Given the description of an element on the screen output the (x, y) to click on. 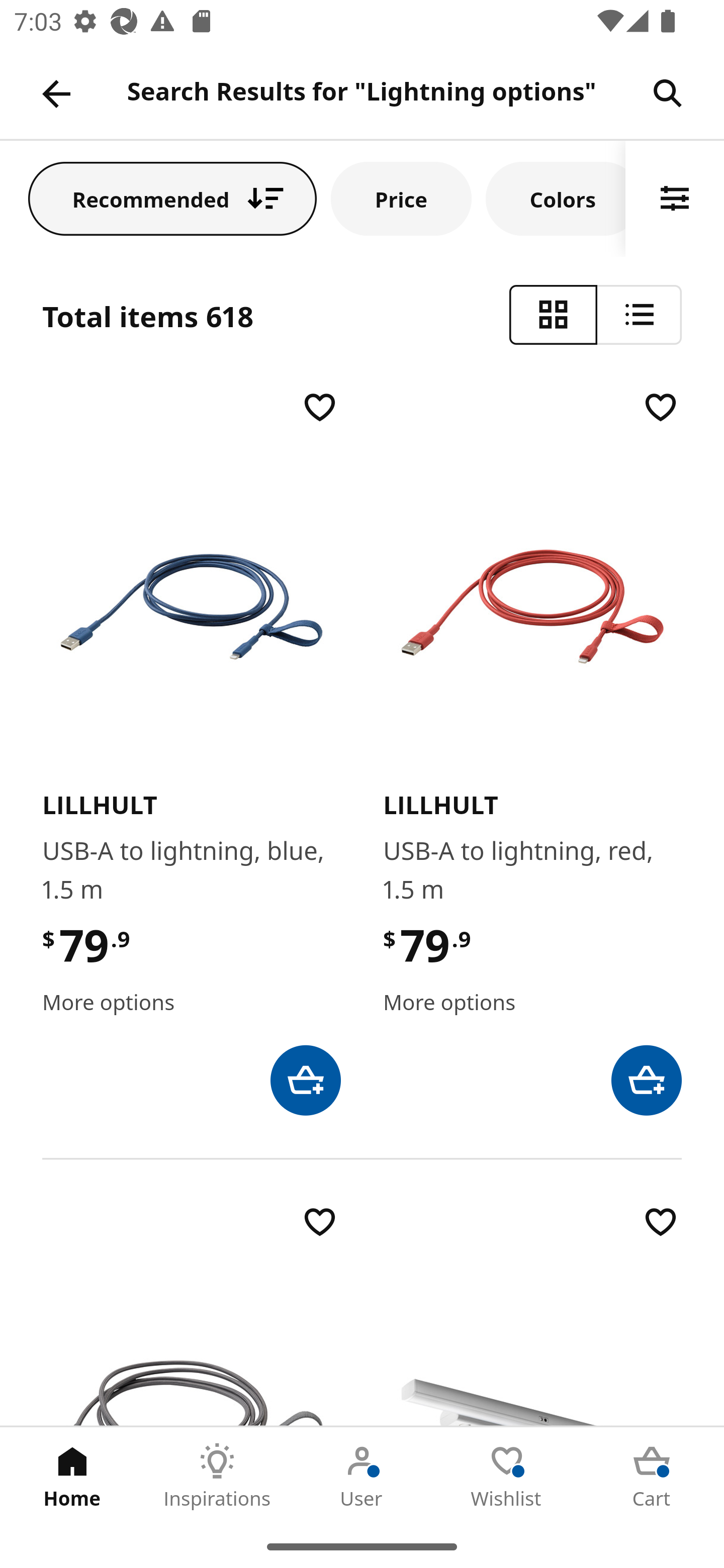
Recommended (172, 198)
Price (400, 198)
Colors (555, 198)
Home
Tab 1 of 5 (72, 1476)
Inspirations
Tab 2 of 5 (216, 1476)
User
Tab 3 of 5 (361, 1476)
Wishlist
Tab 4 of 5 (506, 1476)
Cart
Tab 5 of 5 (651, 1476)
